Given the description of an element on the screen output the (x, y) to click on. 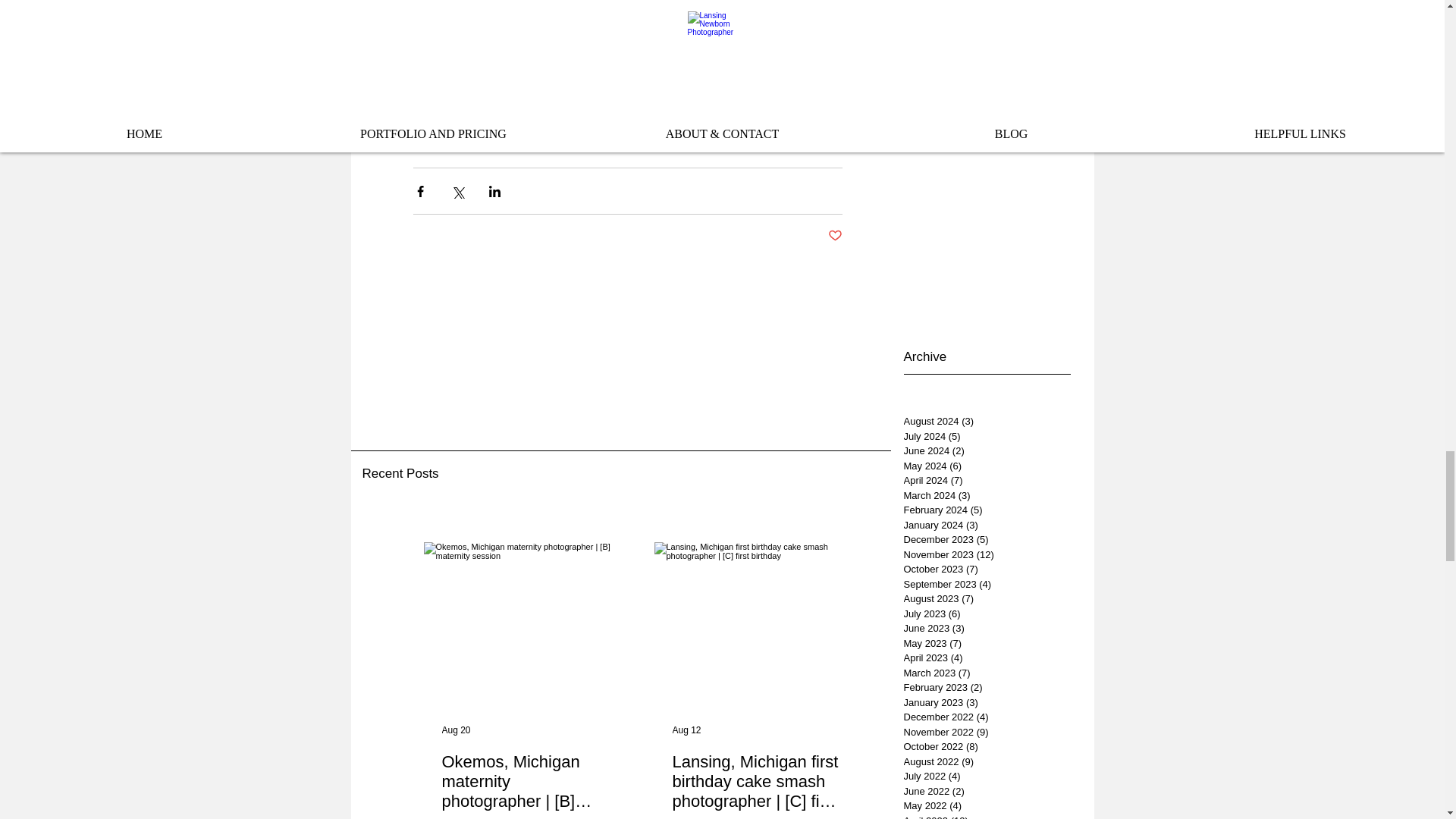
parent poses (591, 118)
studio (425, 118)
twins (665, 118)
dad and baby pose (454, 138)
boy (636, 118)
2018 (459, 118)
newborn twins (716, 118)
boys (515, 138)
newborn session (516, 118)
Aug 12 (685, 729)
